Given the description of an element on the screen output the (x, y) to click on. 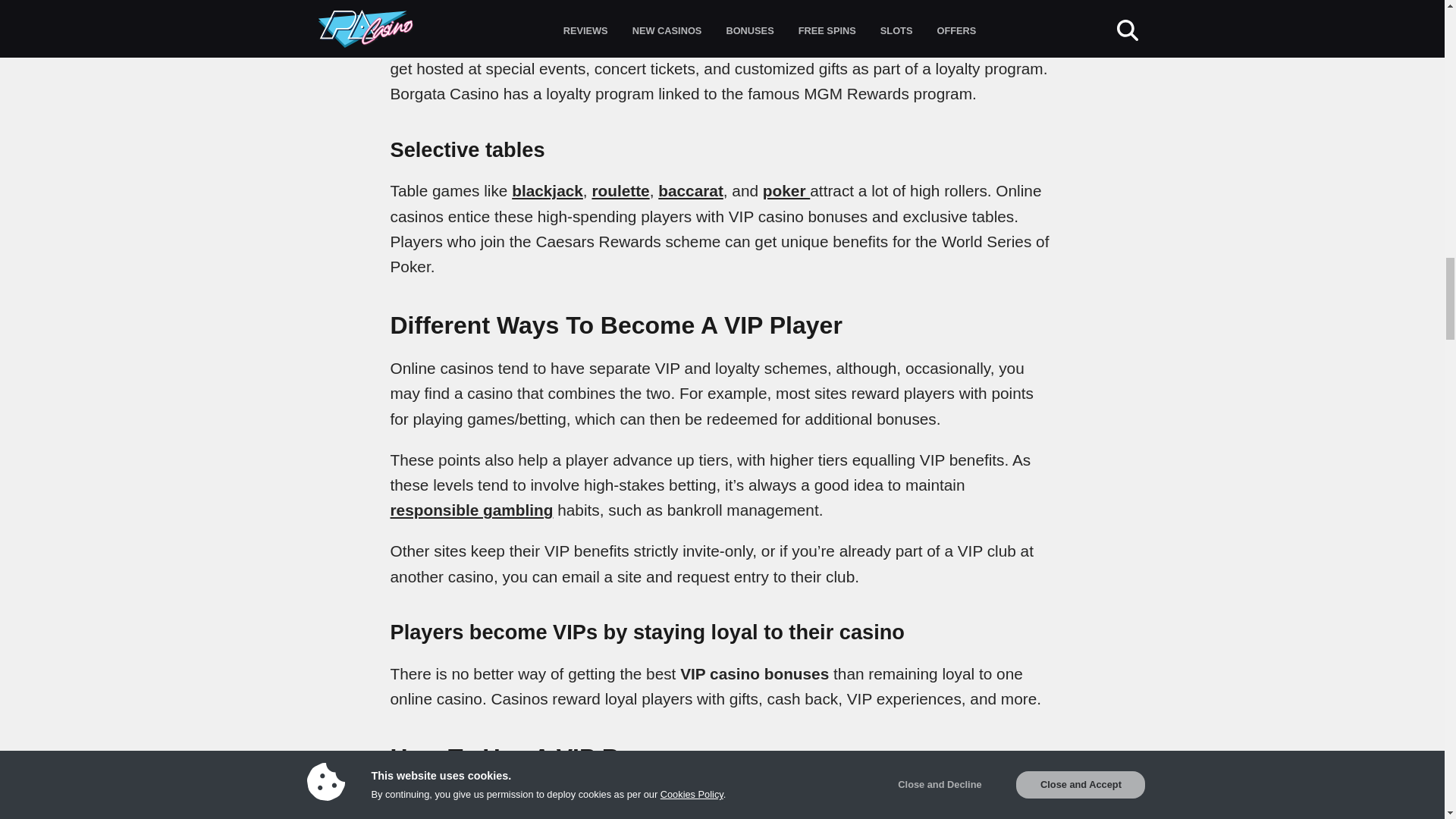
responsible gambling (471, 509)
poker (785, 190)
roulette (620, 190)
blackjack (547, 190)
baccarat (690, 190)
